Given the description of an element on the screen output the (x, y) to click on. 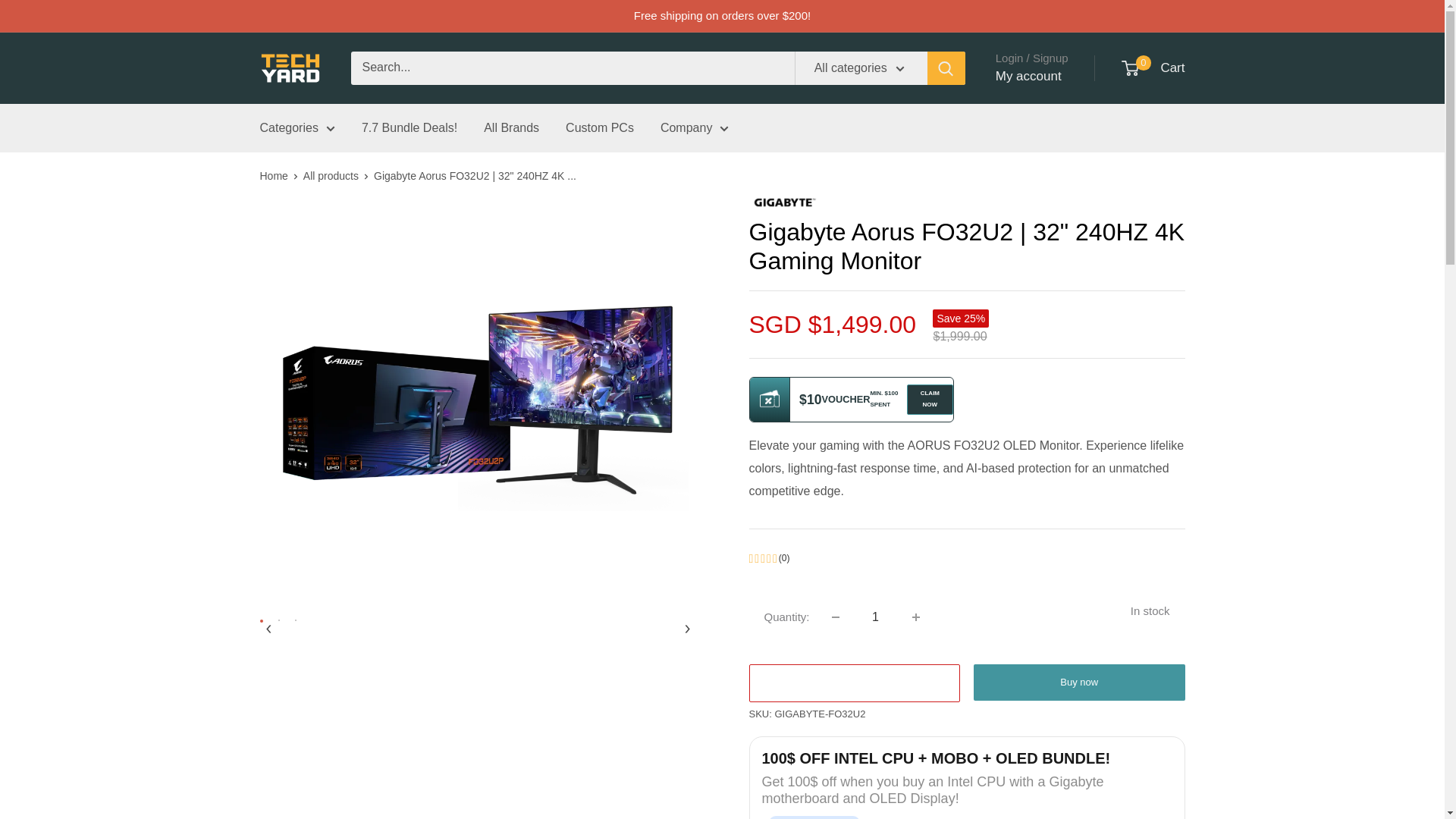
Increase quantity by 1 (915, 617)
Decrease quantity by 1 (835, 617)
Buy now (1079, 682)
1 (875, 617)
